Given the description of an element on the screen output the (x, y) to click on. 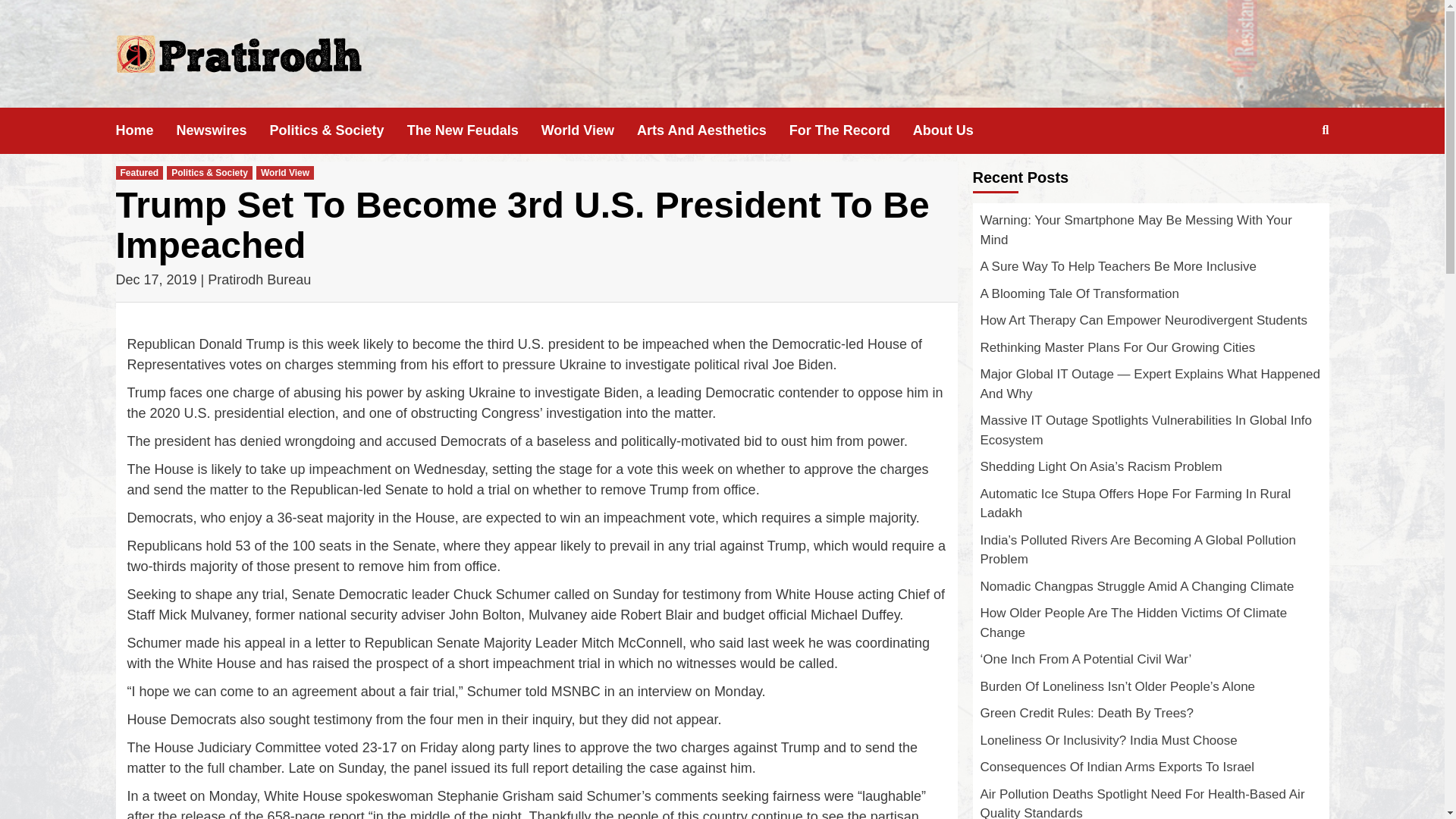
World View (285, 172)
World View (589, 130)
For The Record (850, 130)
Featured (139, 172)
Arts And Aesthetics (713, 130)
Newswires (222, 130)
The New Feudals (474, 130)
About Us (953, 130)
Home (145, 130)
